Given the description of an element on the screen output the (x, y) to click on. 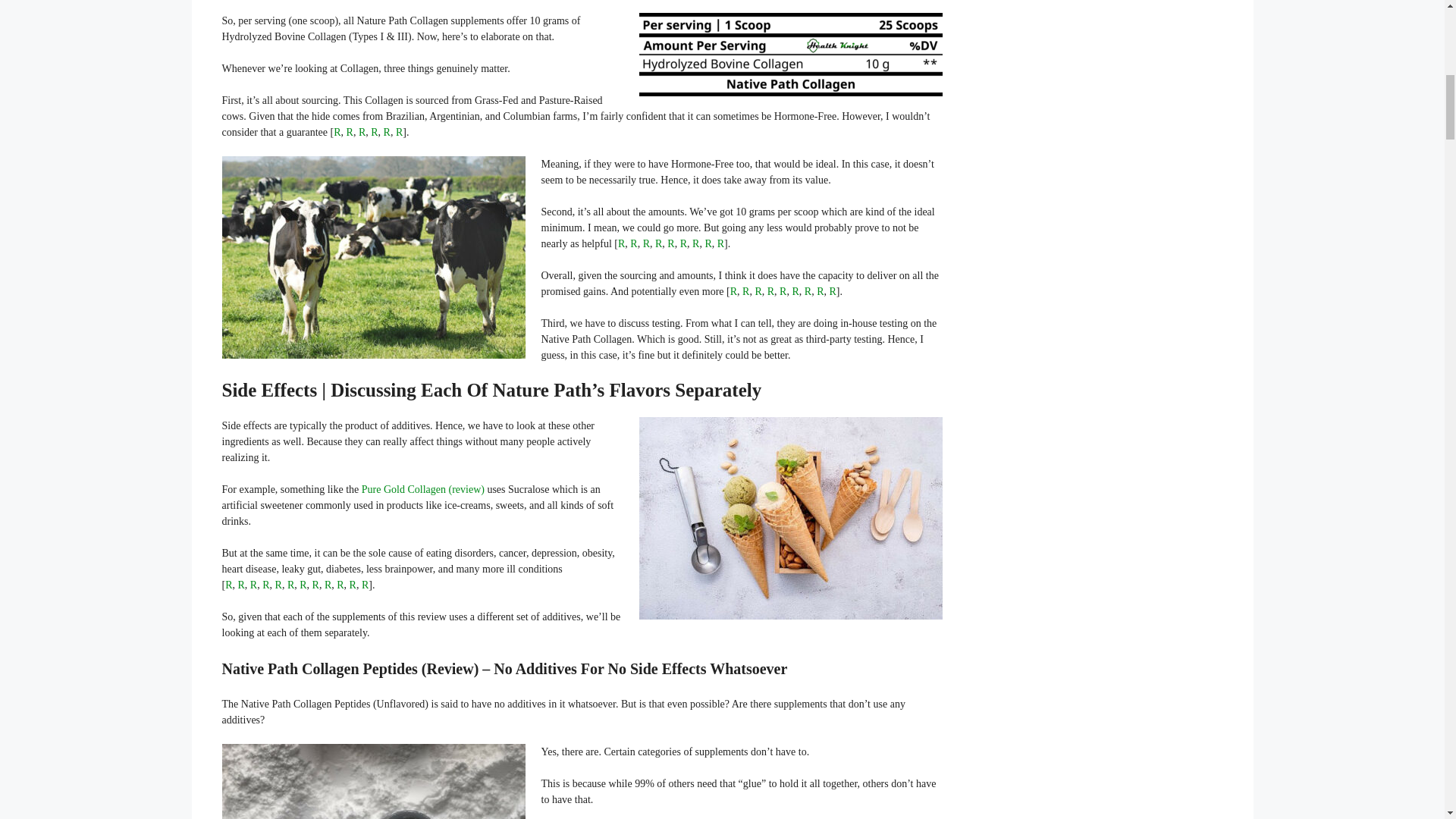
Scroll back to top (1406, 720)
Native Path Collagen Ingredients (790, 54)
